Given the description of an element on the screen output the (x, y) to click on. 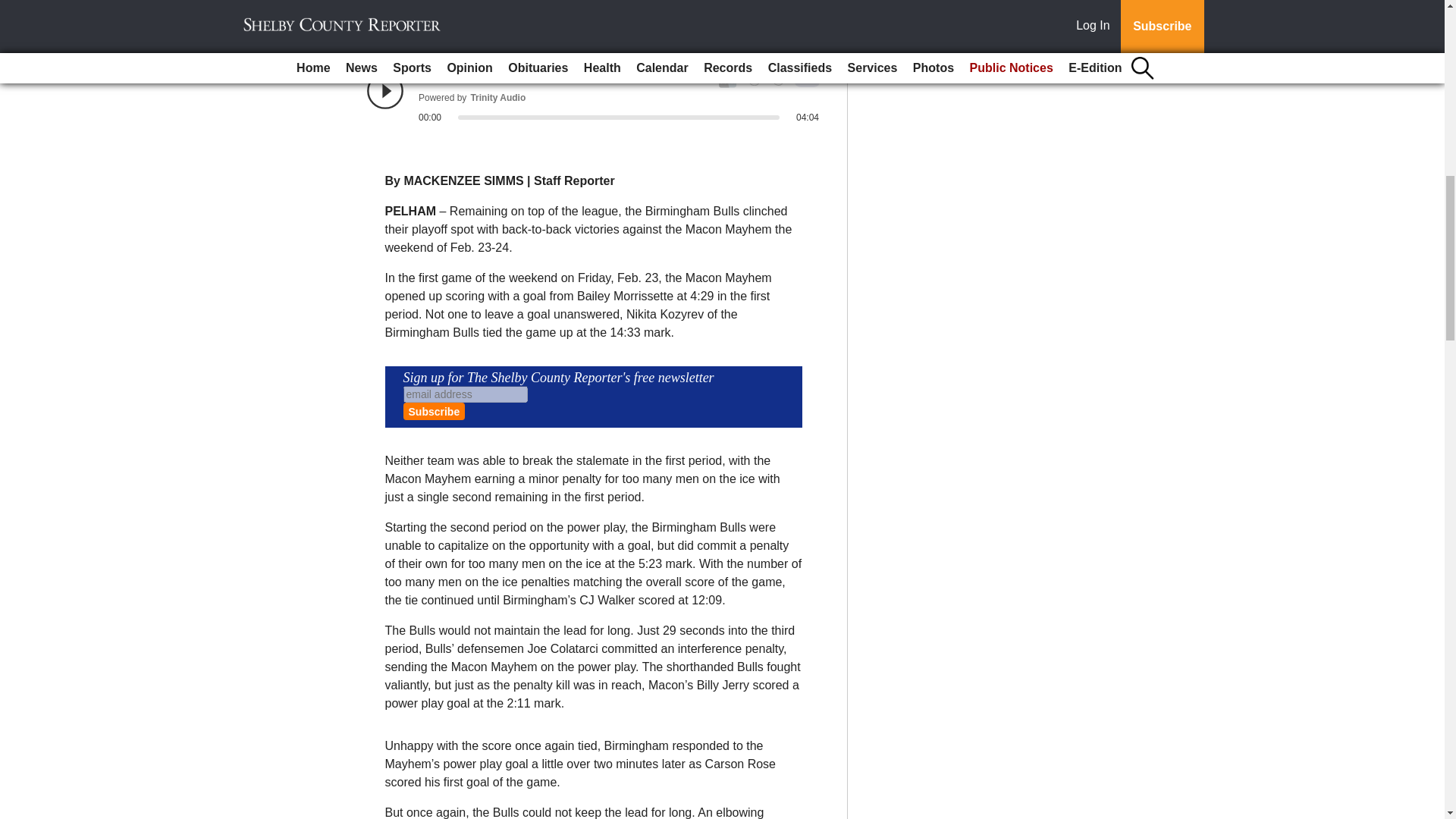
Subscribe (434, 411)
Trinity Audio Player (592, 97)
